Given the description of an element on the screen output the (x, y) to click on. 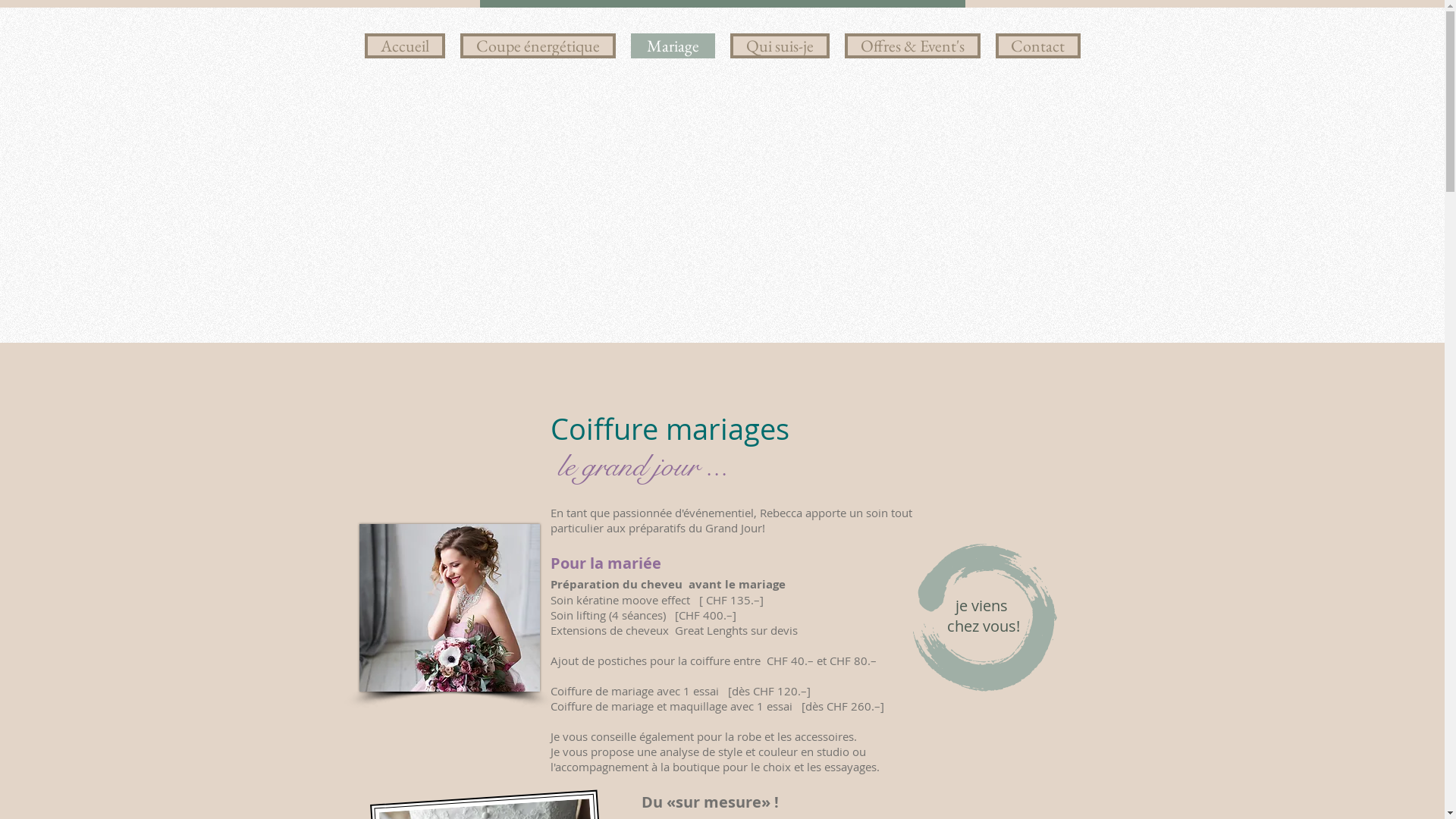
Qui suis-je Element type: text (778, 45)
Contact Element type: text (1036, 45)
Mariage Element type: text (672, 45)
Offres & Event's Element type: text (912, 45)
Accueil Element type: text (404, 45)
